Given the description of an element on the screen output the (x, y) to click on. 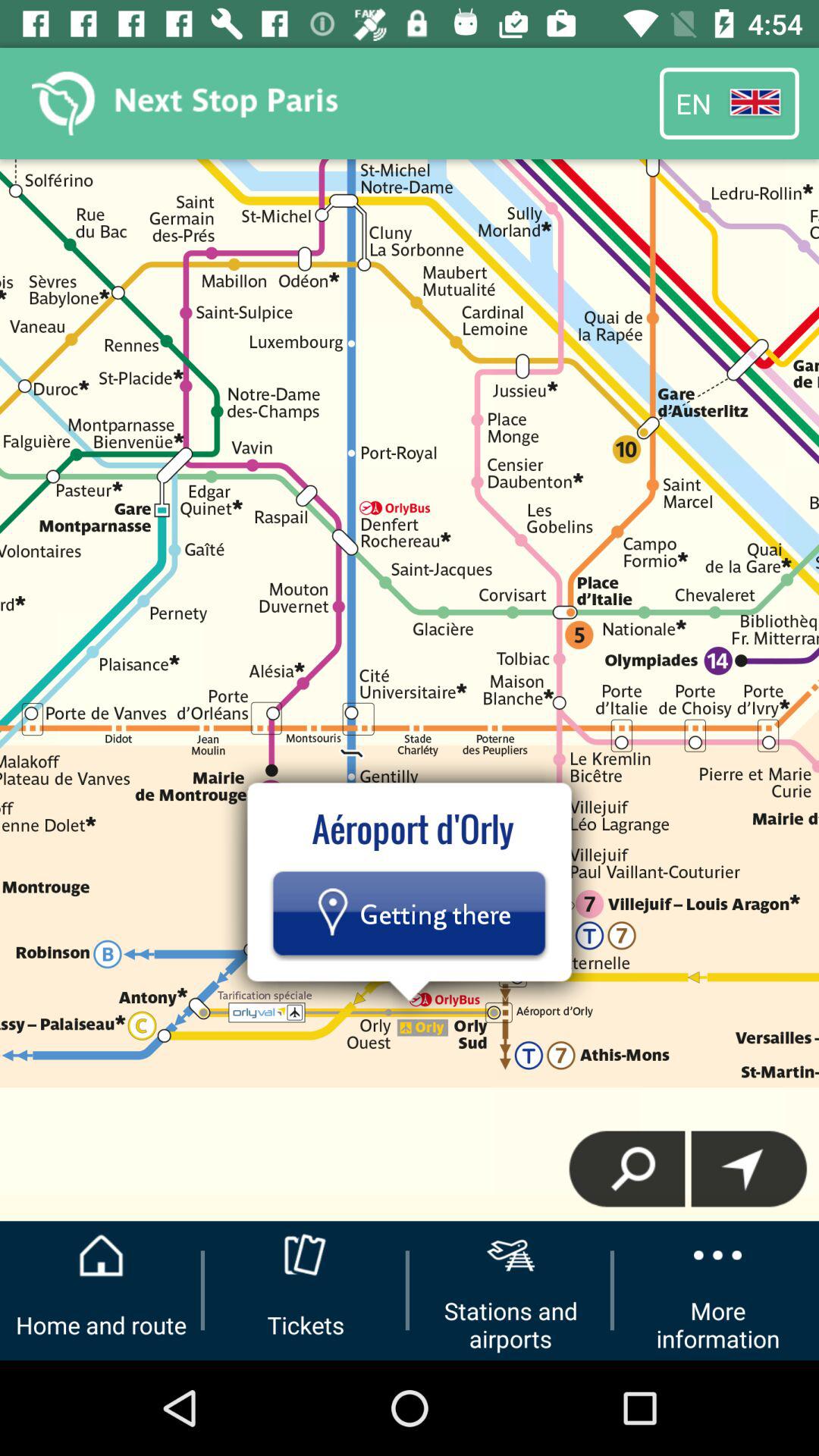
launch getting there item (409, 913)
